Given the description of an element on the screen output the (x, y) to click on. 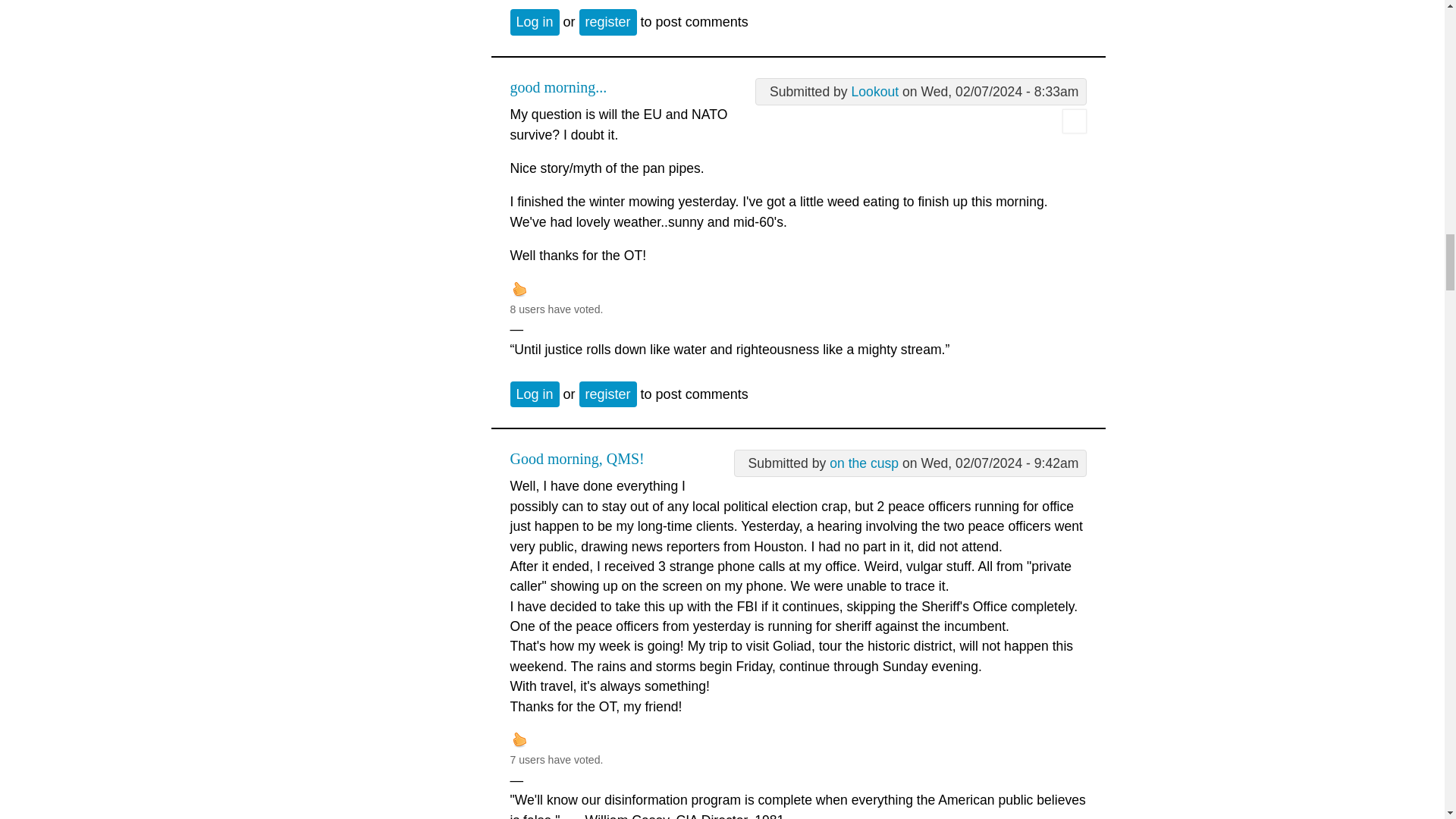
on the cusp (863, 462)
Log in (534, 22)
Log in (534, 394)
View user profile. (863, 462)
Lookout's picture (1073, 120)
register (608, 394)
Lookout (875, 91)
good morning... (558, 86)
Good morning, QMS! (576, 458)
View user profile. (875, 91)
register (608, 22)
View user profile. (1073, 128)
